Given the description of an element on the screen output the (x, y) to click on. 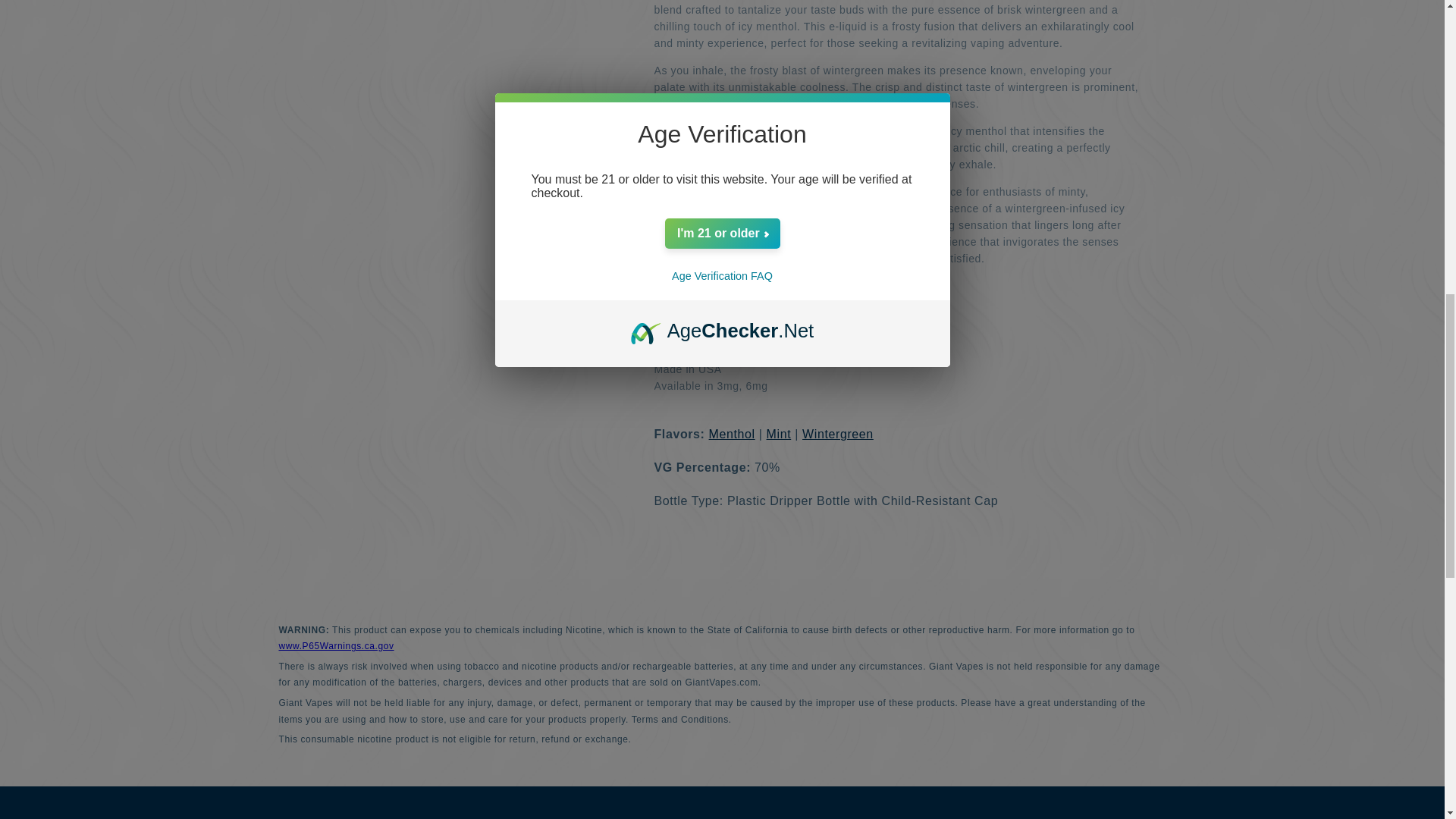
Shop All Mint Flavored Vape Juices (779, 433)
Shop All Wintergreen Flavored Vape Juices (837, 433)
Shop All Menthol Flavored Vape Juices (732, 433)
Prop 65 (336, 645)
